Given the description of an element on the screen output the (x, y) to click on. 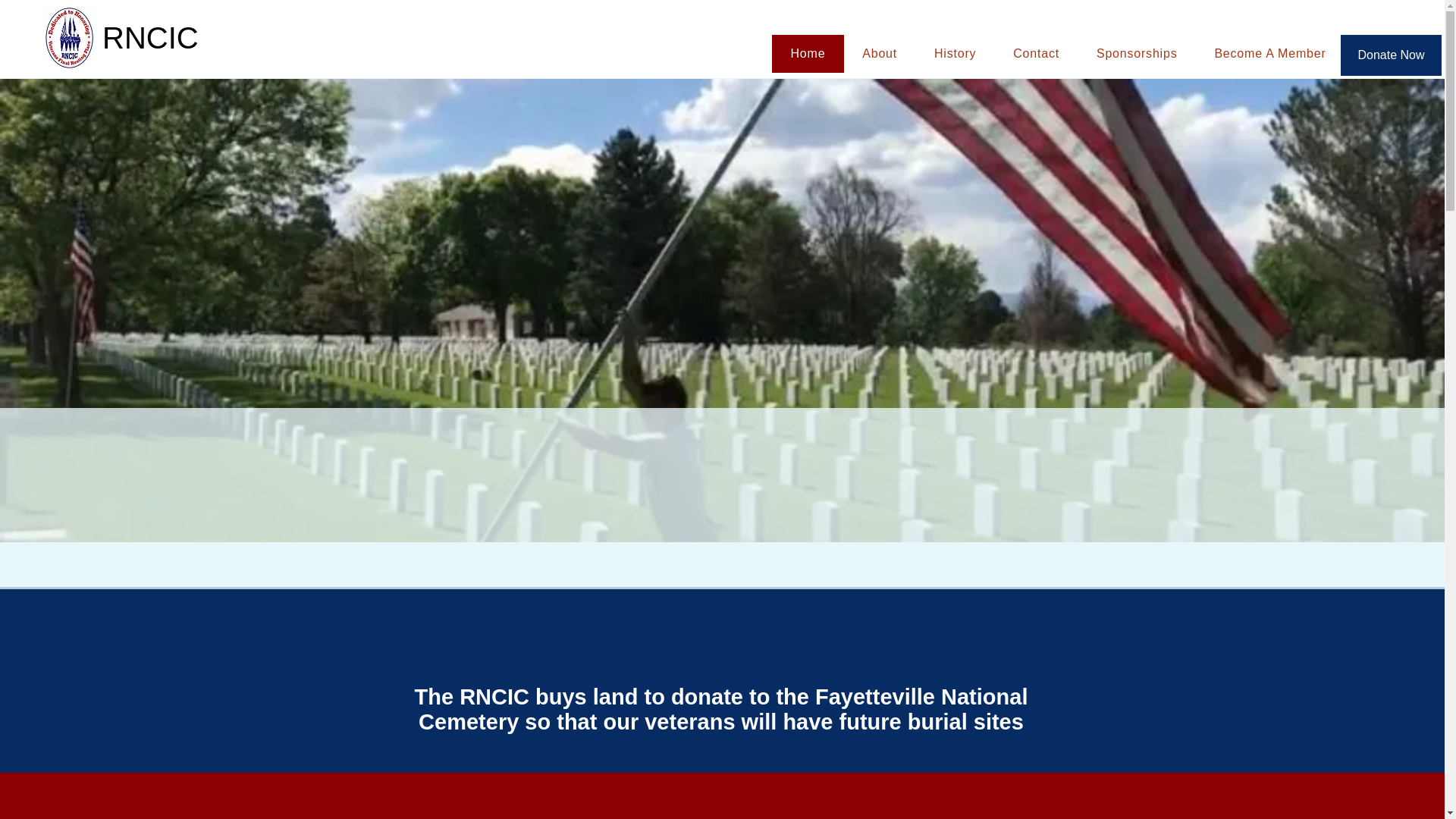
Contact (1036, 53)
RNCIC (161, 37)
Sponsorships (1136, 53)
About (879, 53)
Become A Member (1269, 53)
Donate Now (1390, 55)
History (954, 53)
Home (807, 53)
